Given the description of an element on the screen output the (x, y) to click on. 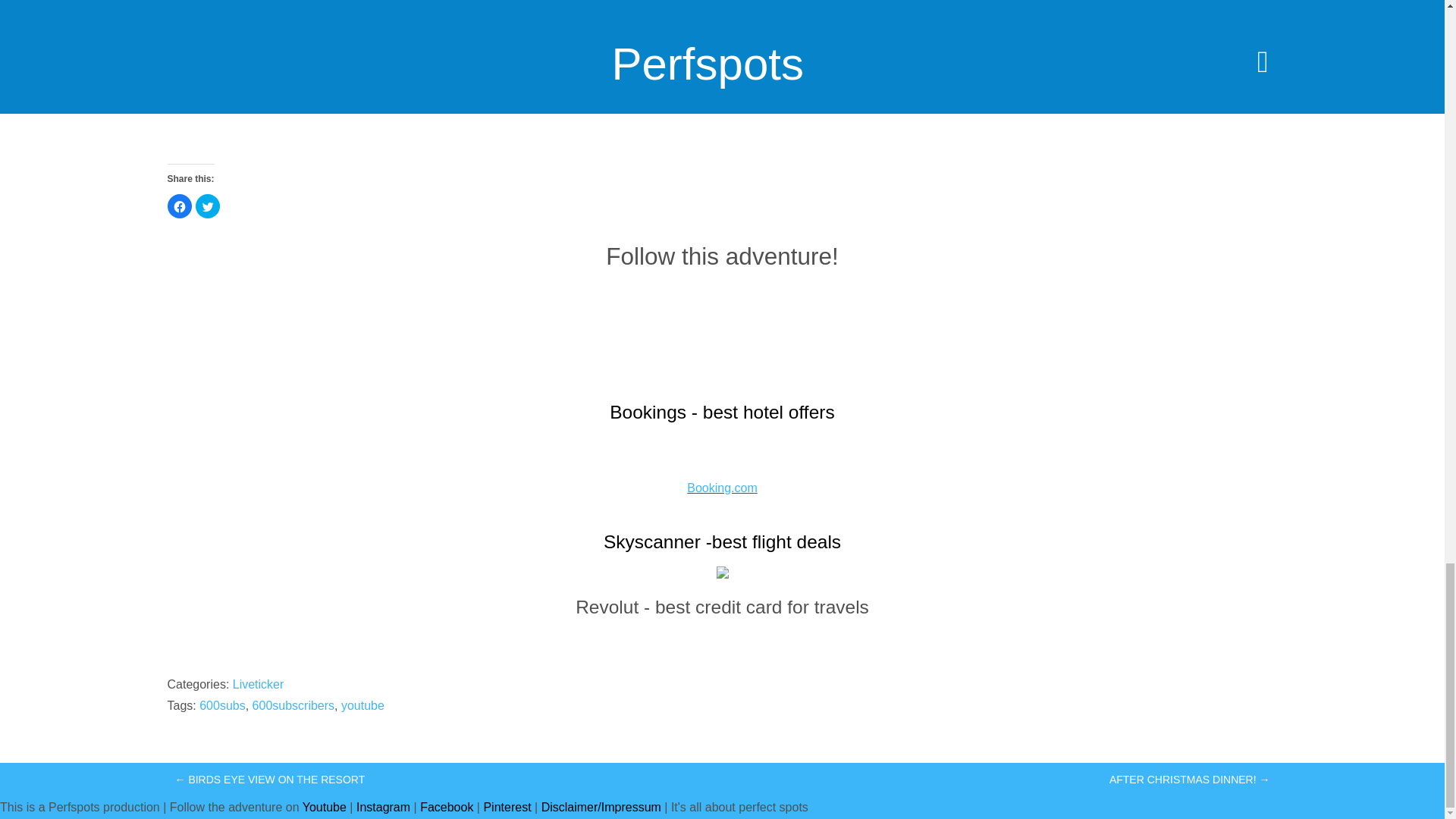
youtube (362, 705)
Booking.com (722, 487)
Click to share on Twitter (207, 206)
Skyscanner -best flight deals (722, 541)
600subscribers (292, 705)
Liveticker (257, 684)
Facebook (446, 807)
Bookings - best hotel offers (722, 412)
600subs (222, 705)
Instagram (383, 807)
Youtube (324, 807)
Click to share on Facebook (178, 206)
Pinterest (507, 807)
